Given the description of an element on the screen output the (x, y) to click on. 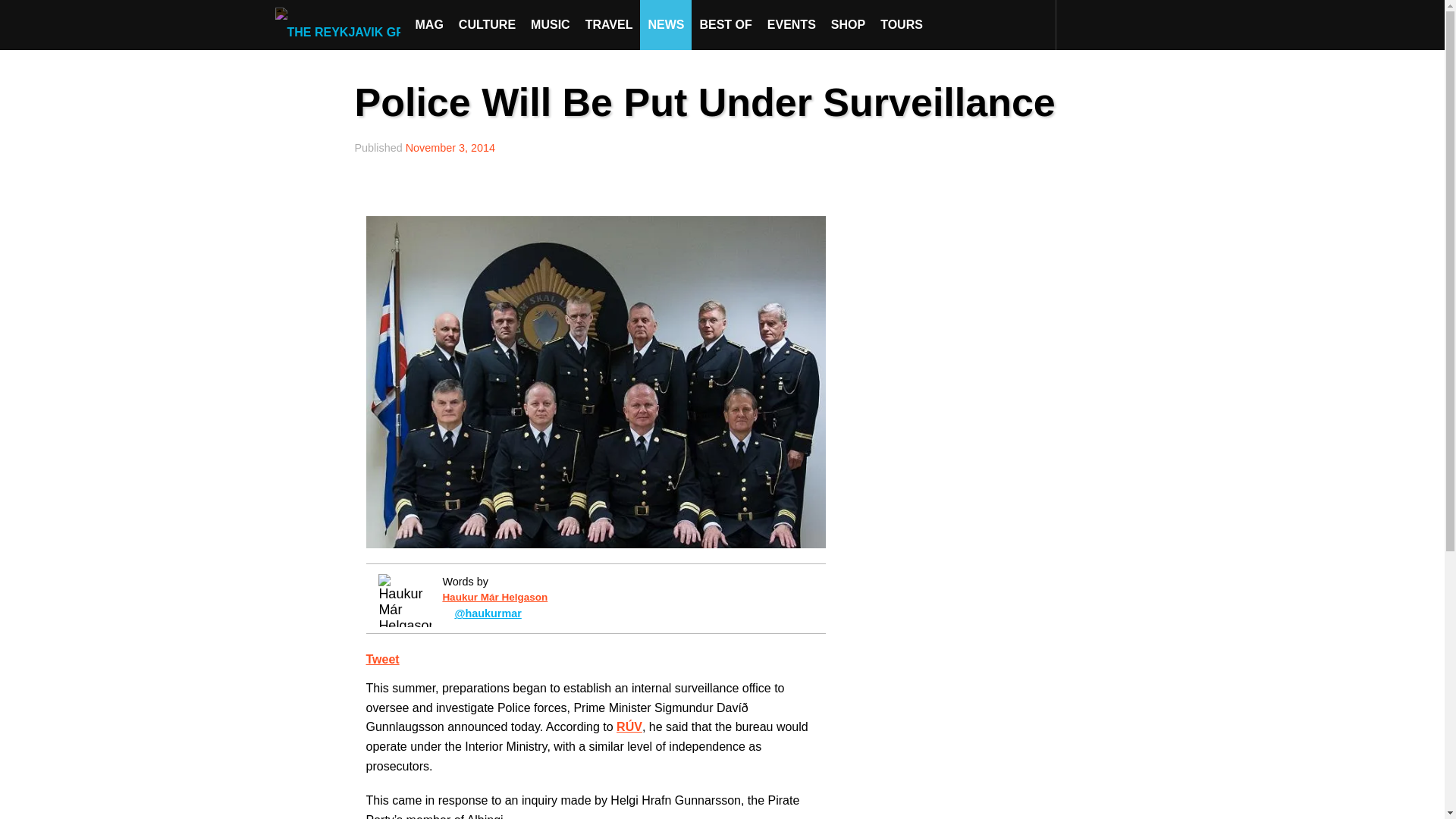
MUSIC (550, 24)
CULTURE (486, 24)
BEST OF (724, 24)
EVENTS (792, 24)
TOURS (901, 24)
TRAVEL (609, 24)
NEWS (665, 24)
SHOP (848, 24)
The Reykjavik Grapevine (341, 24)
Tweet (381, 658)
